Given the description of an element on the screen output the (x, y) to click on. 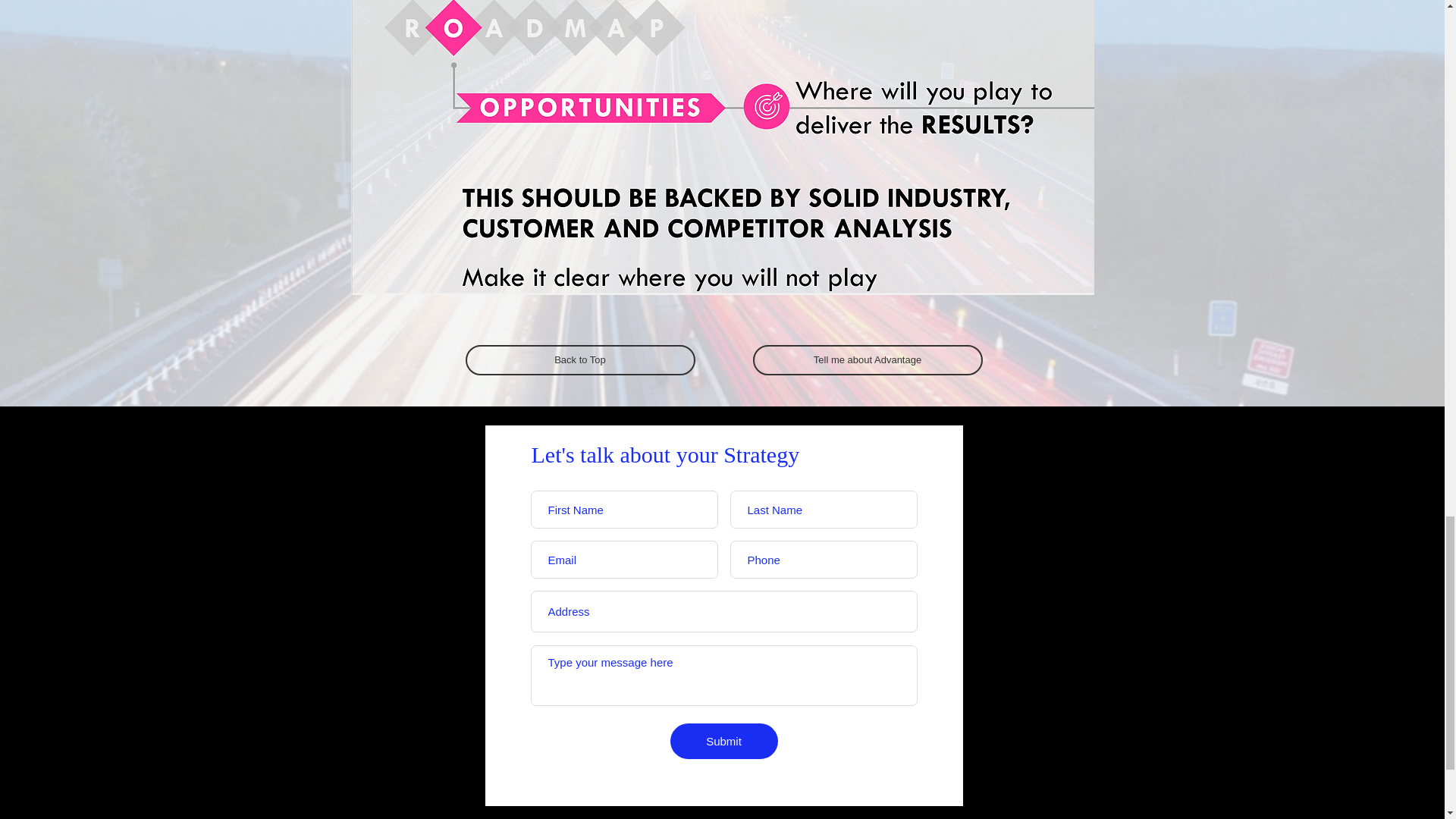
Back to Top (580, 359)
Tell me about Advantage (866, 359)
Submit (723, 741)
